Given the description of an element on the screen output the (x, y) to click on. 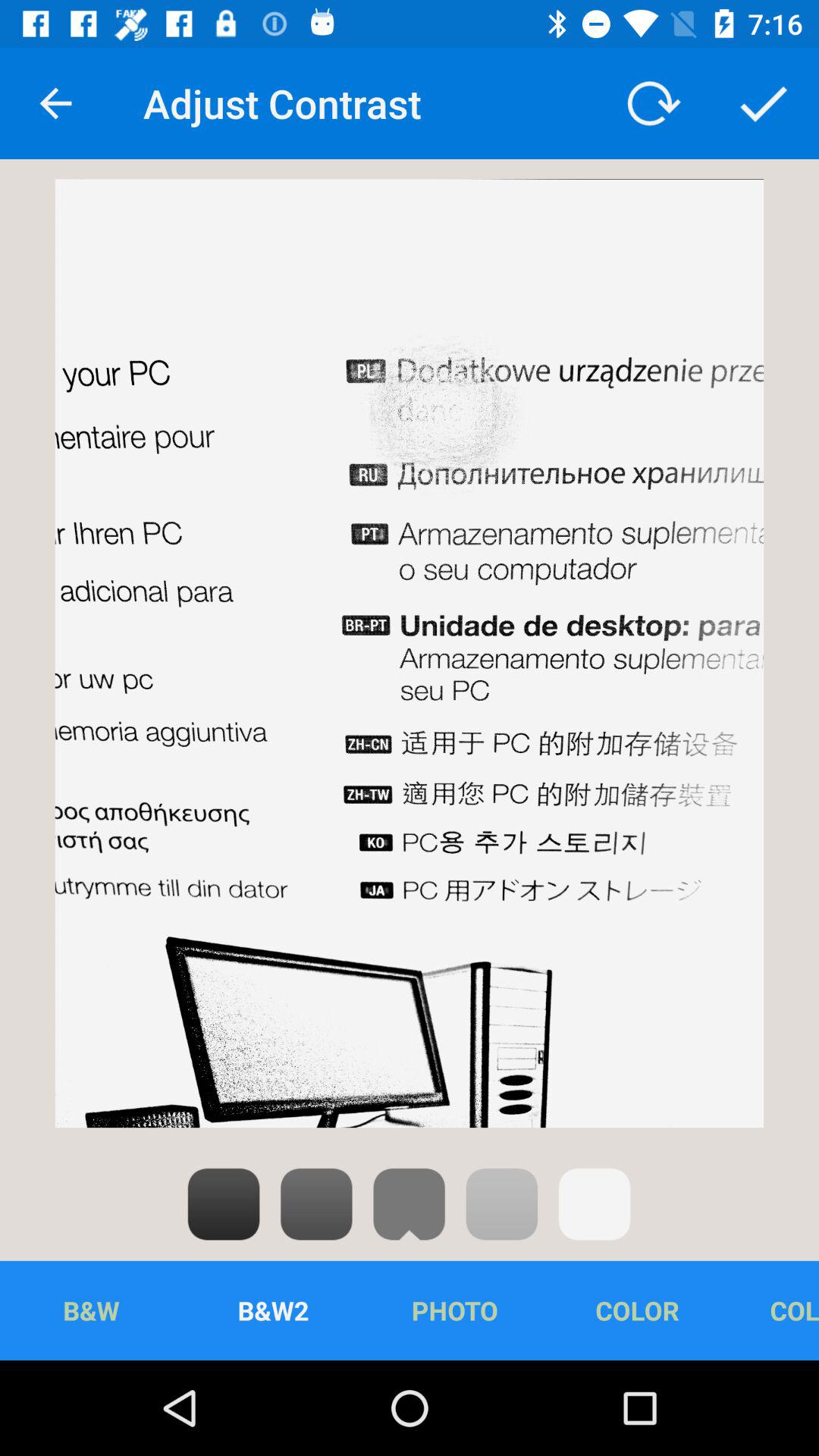
tap the icon next to adjust contrast icon (55, 103)
